Given the description of an element on the screen output the (x, y) to click on. 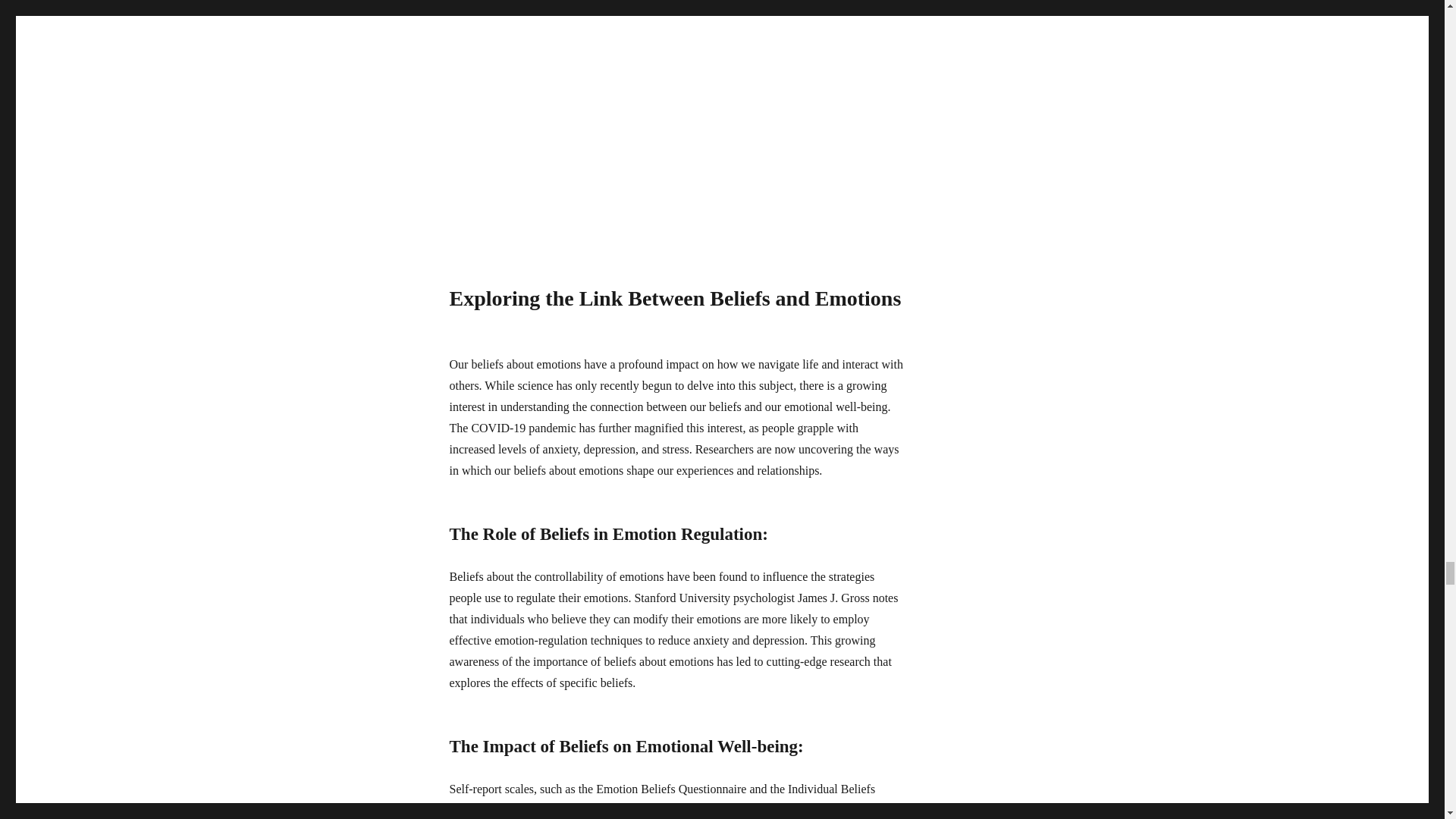
Emotions and the Brain (676, 121)
